Given the description of an element on the screen output the (x, y) to click on. 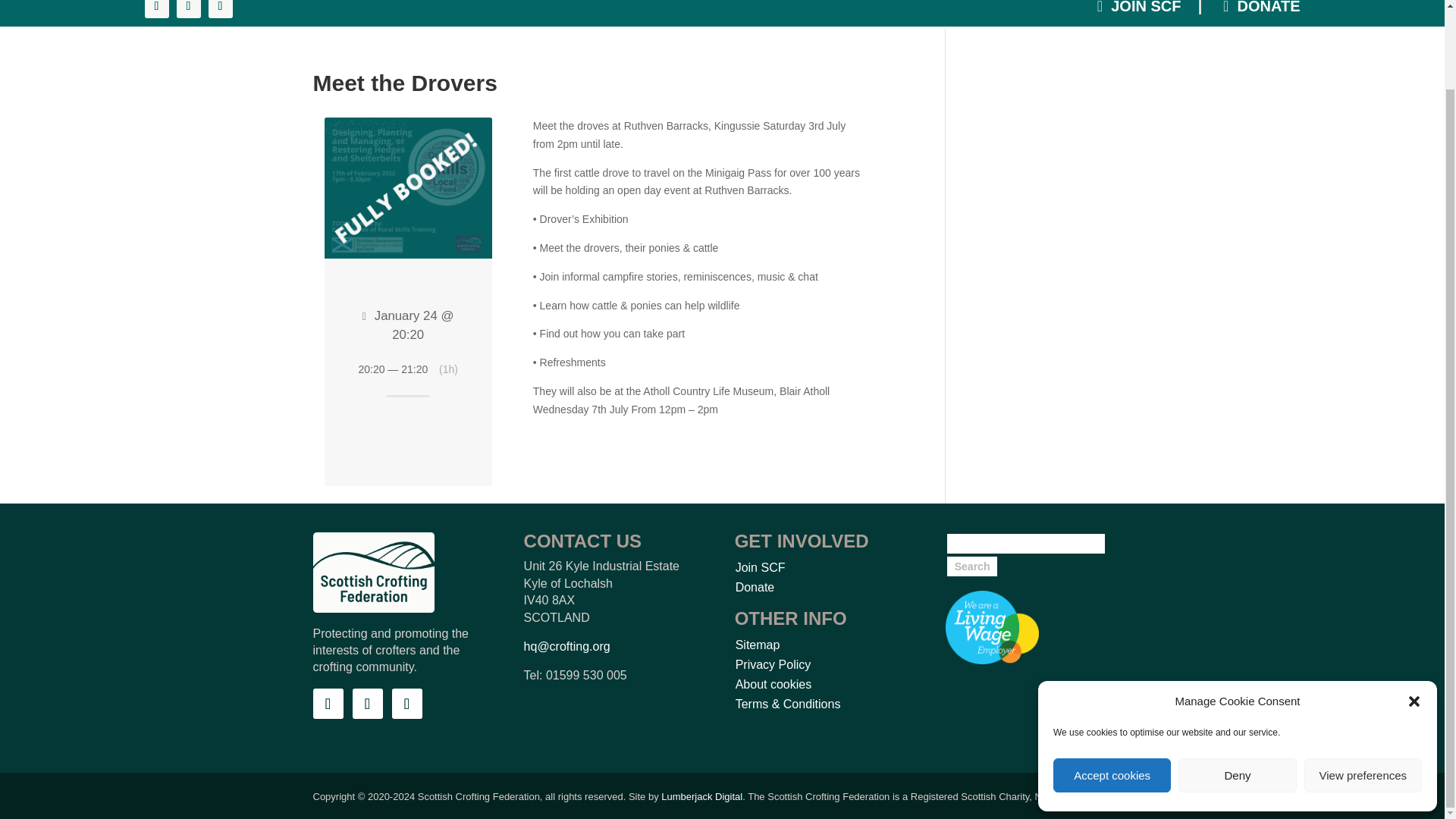
Follow on Twitter (366, 703)
Search (971, 566)
Follow on Facebook (327, 703)
View preferences (1363, 685)
Follow on Facebook (156, 9)
SCF logo 150h white (373, 572)
Lumberjack Digital (701, 796)
Deny (1236, 685)
Follow on Instagram (406, 703)
Accept cookies (1111, 685)
